Given the description of an element on the screen output the (x, y) to click on. 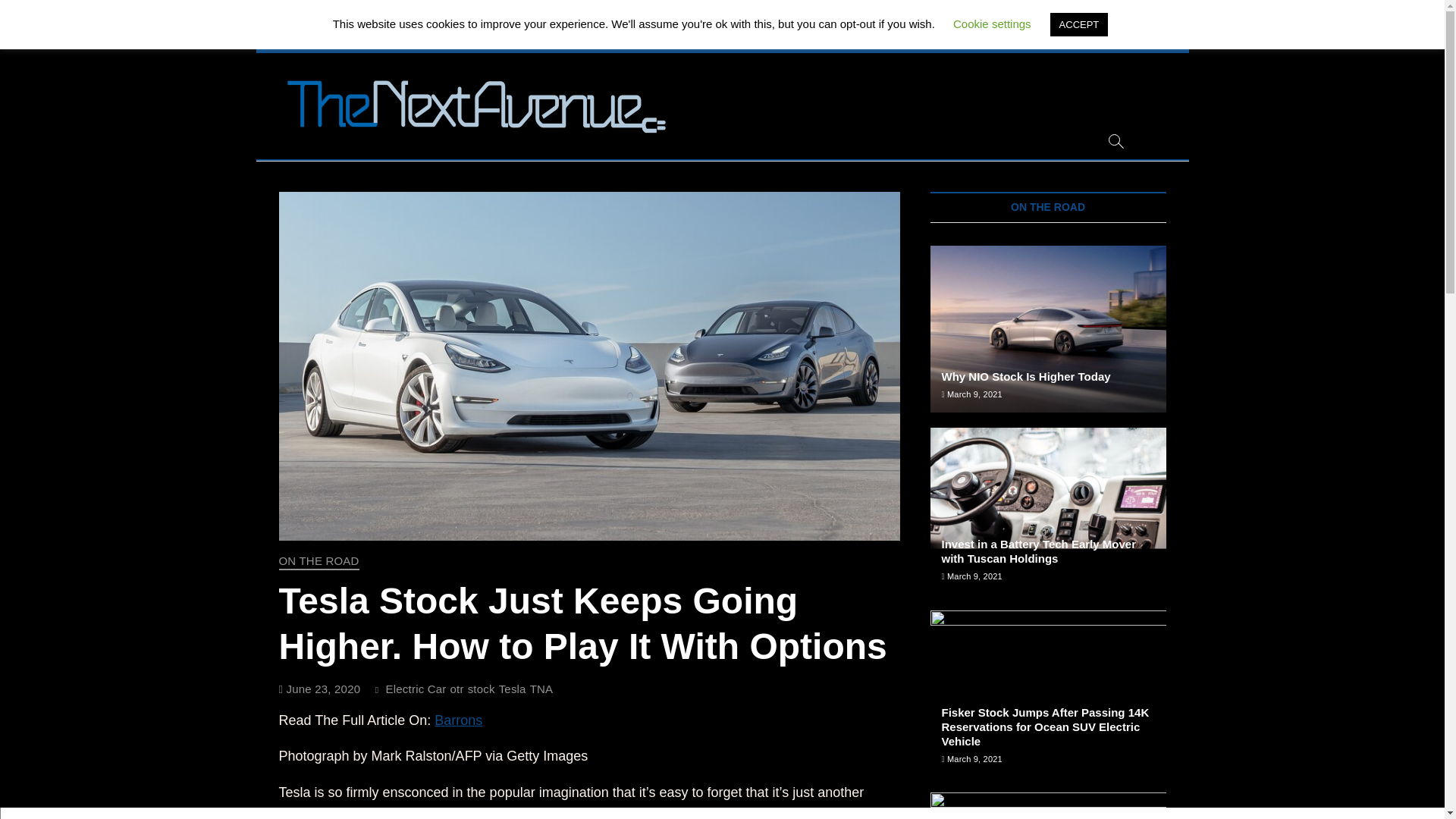
Invest in a Battery Tech Early Mover with Tuscan Holdings (1039, 551)
June 23, 2020 (320, 688)
March 9, 2021 (972, 393)
Sport (556, 37)
Authors (775, 37)
Cars (518, 37)
Why NIO Stock Is Higher Today (1026, 376)
ON THE ROAD (319, 562)
